Given the description of an element on the screen output the (x, y) to click on. 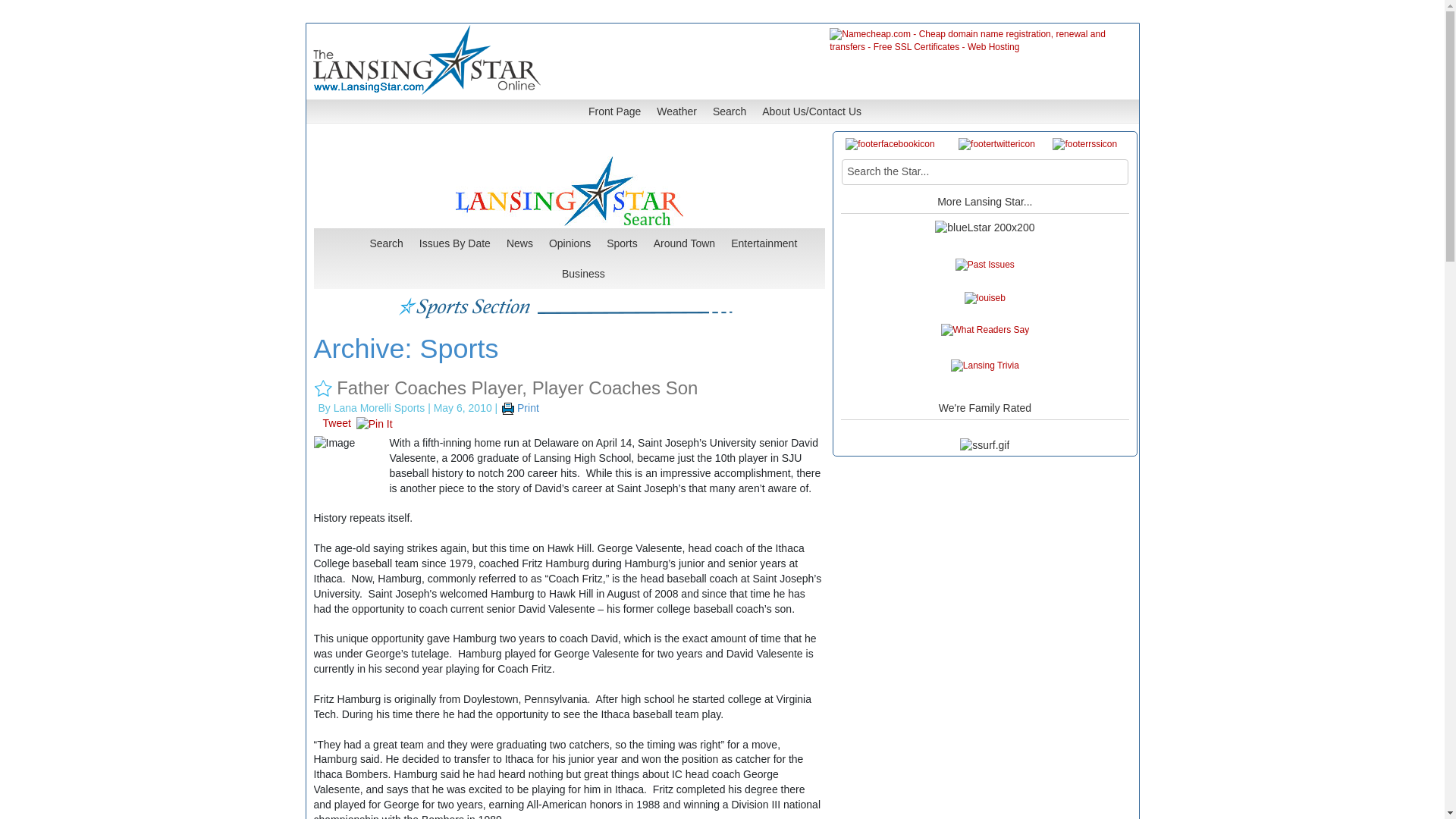
Click Here for Our RSS News Feeds (1084, 144)
Weather (676, 110)
Around Town (683, 242)
Search (729, 110)
Business (583, 273)
Entertainment (763, 242)
Issues By Date (454, 242)
Follow us on Facebook! (889, 144)
Follow us on Twitter! (996, 144)
Tweet (336, 422)
Search (386, 242)
News (519, 242)
Sports (622, 242)
Search the Star... (983, 171)
Father Coaches Player, Player Coaches Son (516, 387)
